Given the description of an element on the screen output the (x, y) to click on. 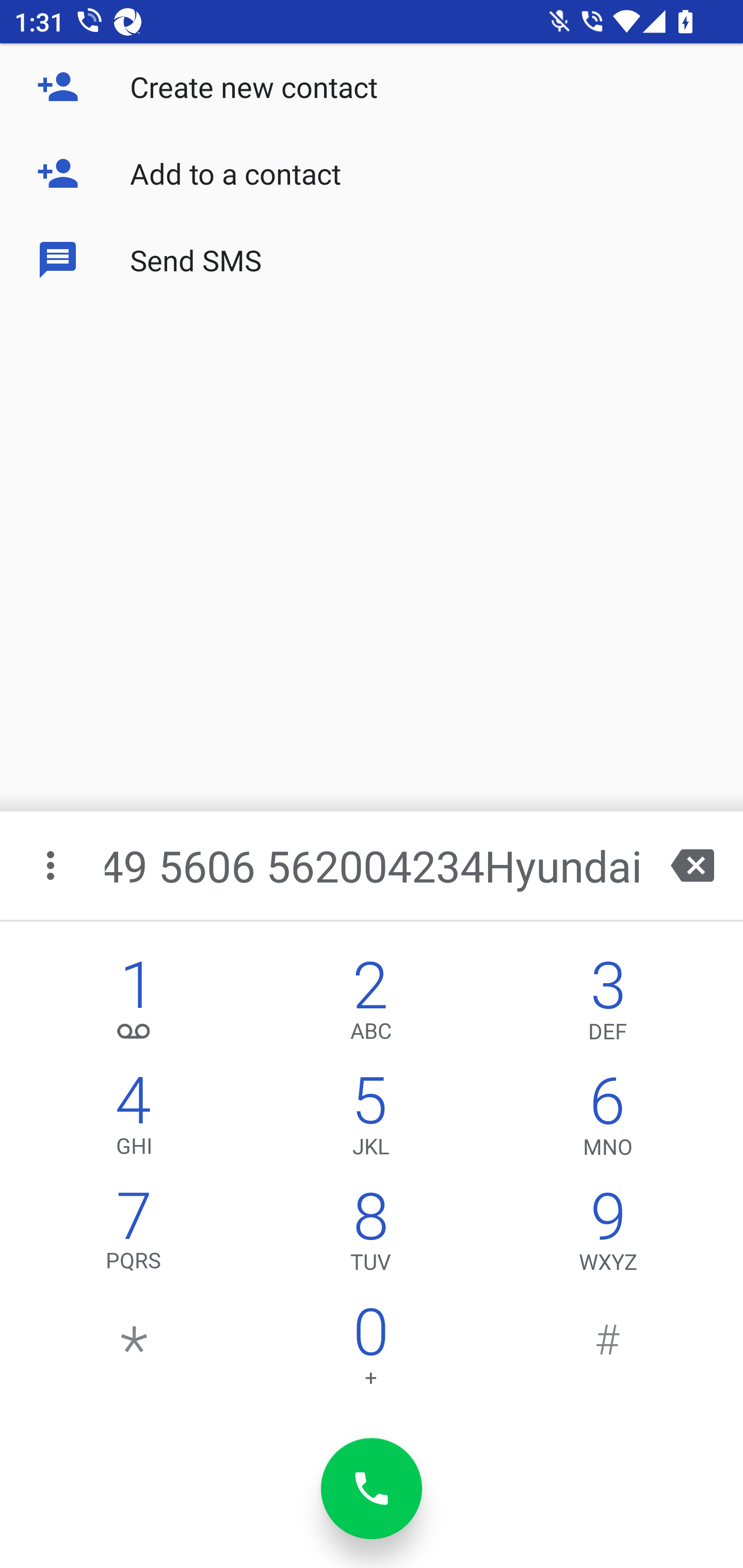
Create new contact (371, 86)
Add to a contact (371, 173)
Send SMS (371, 259)
+49 5606 562004234Hyundai (372, 865)
backspace (692, 865)
More options (52, 865)
1, 1 (133, 1005)
2,ABC 2 ABC (370, 1005)
3,DEF 3 DEF (607, 1005)
4,GHI 4 GHI (133, 1120)
5,JKL 5 JKL (370, 1120)
6,MNO 6 MNO (607, 1120)
7,PQRS 7 PQRS (133, 1235)
8,TUV 8 TUV (370, 1235)
9,WXYZ 9 WXYZ (607, 1235)
* (133, 1351)
0 0 + (370, 1351)
# (607, 1351)
dial (371, 1488)
